Given the description of an element on the screen output the (x, y) to click on. 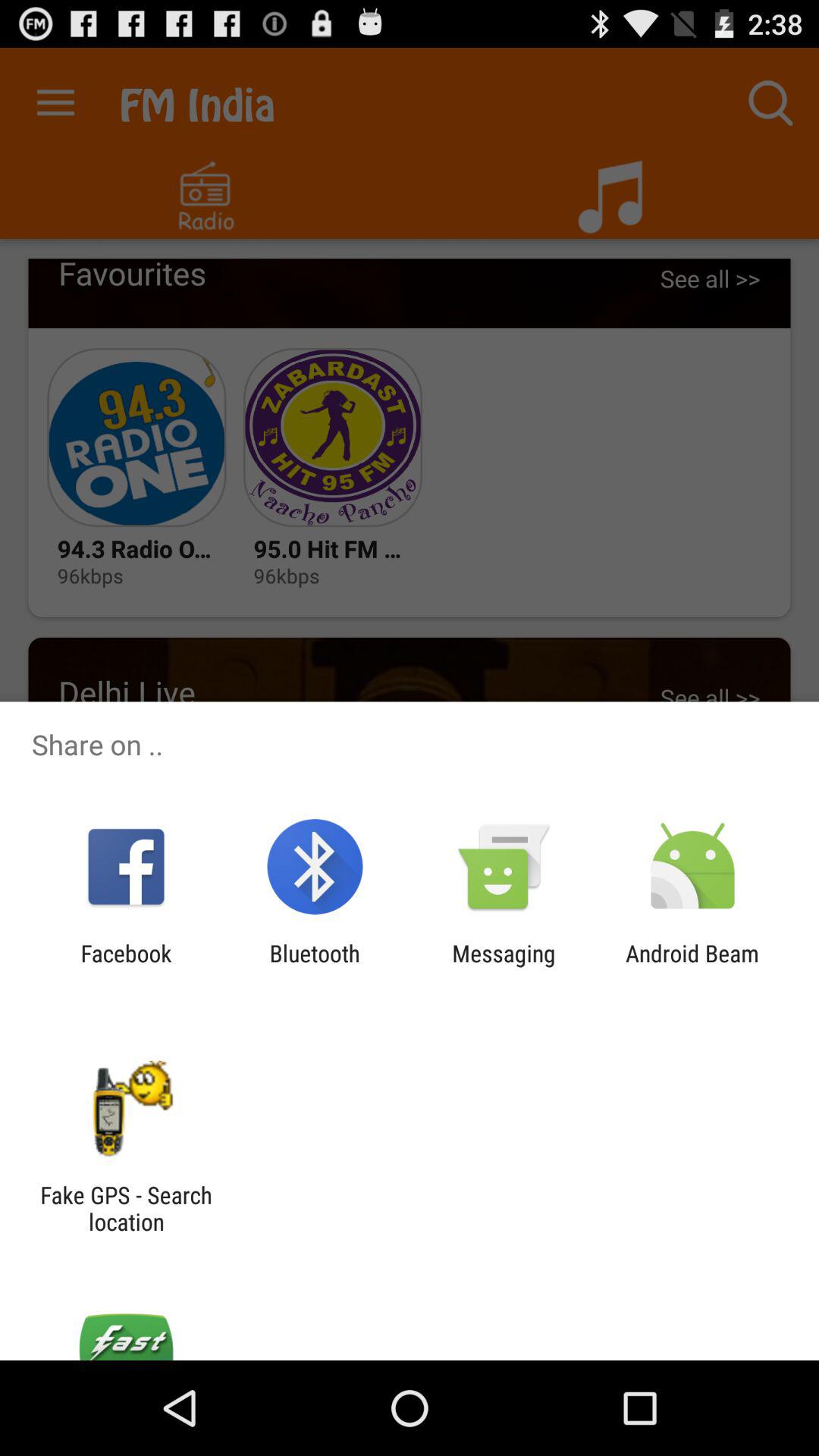
launch icon to the left of the messaging (314, 966)
